Given the description of an element on the screen output the (x, y) to click on. 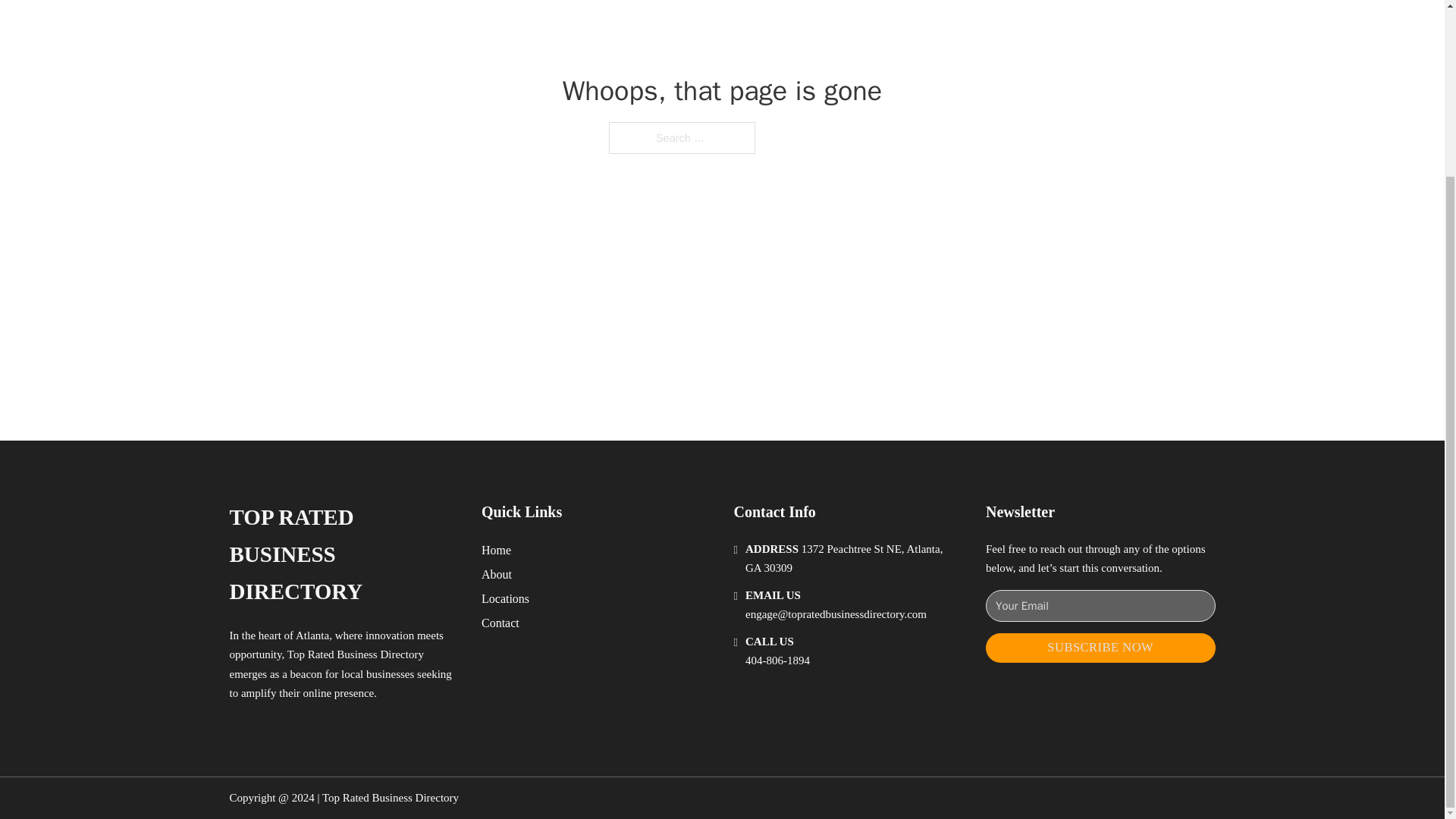
SUBSCRIBE NOW (1100, 647)
Contact (500, 622)
About (496, 574)
404-806-1894 (777, 660)
Home (496, 549)
Locations (505, 598)
TOP RATED BUSINESS DIRECTORY (343, 554)
